Given the description of an element on the screen output the (x, y) to click on. 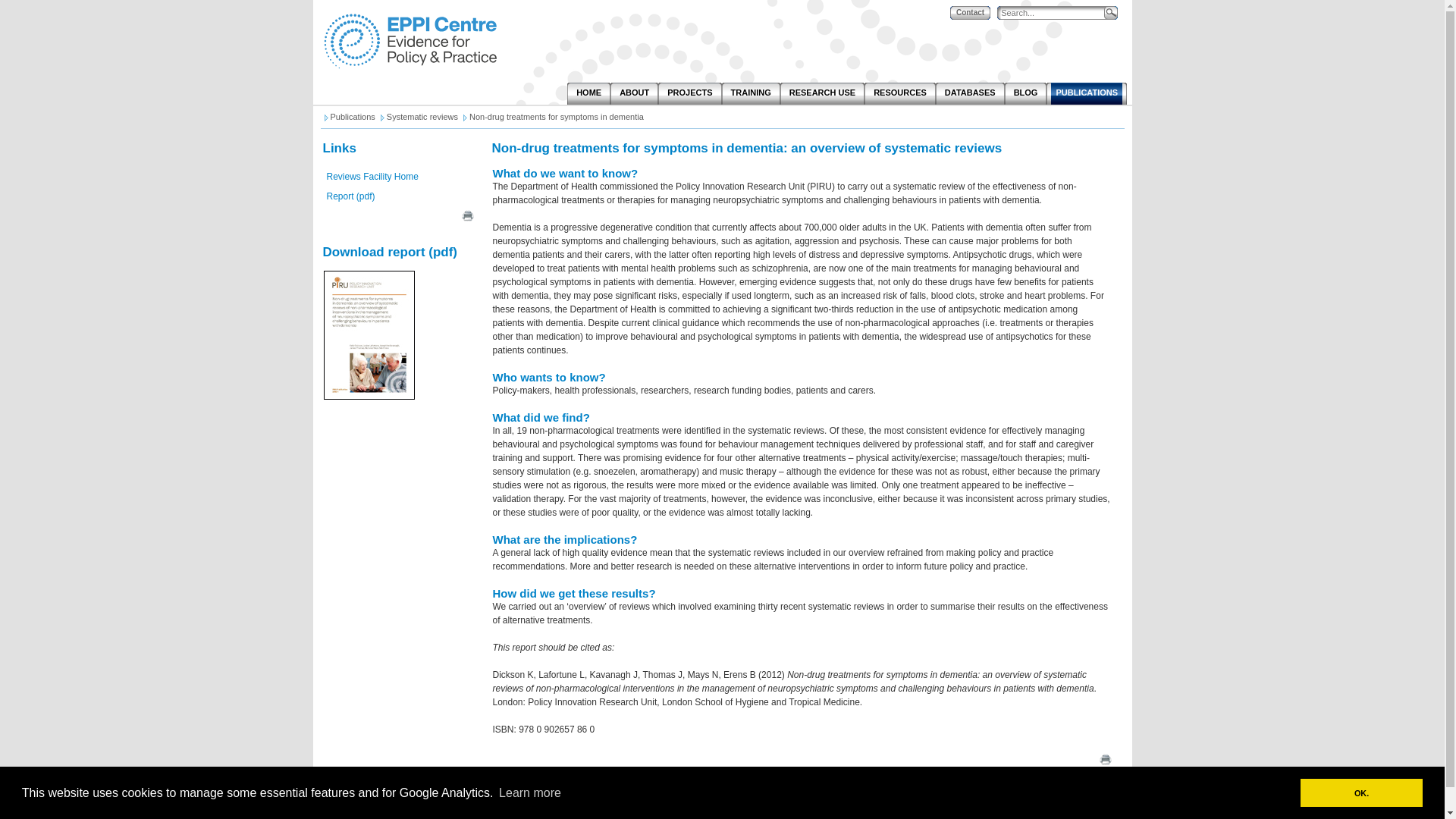
Contact (970, 12)
Clear search text (1093, 31)
ABOUT (634, 93)
Learn more (529, 792)
OK. (1361, 792)
HOME (588, 93)
PROJECTS (689, 93)
